Given the description of an element on the screen output the (x, y) to click on. 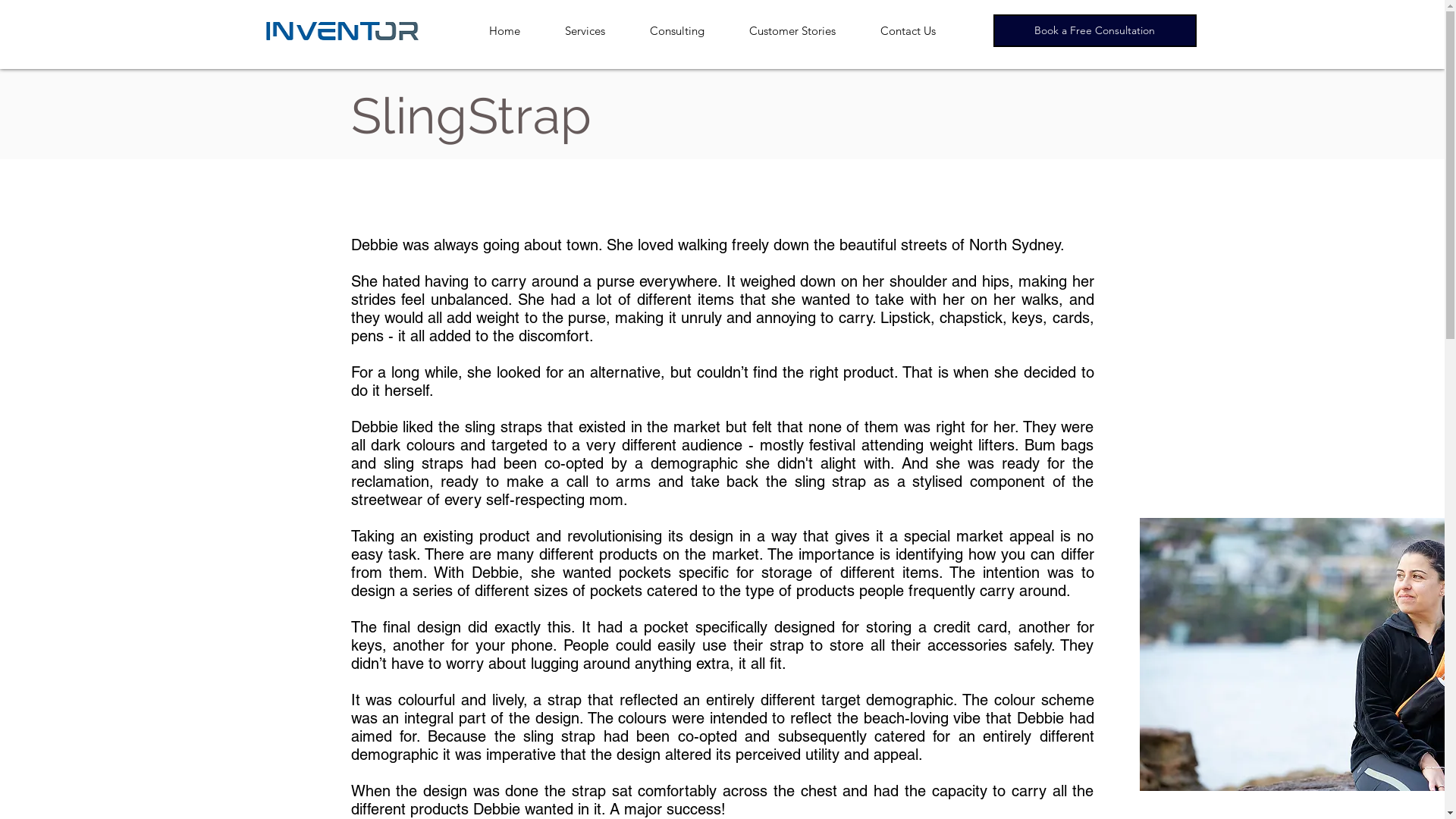
Services Element type: text (594, 30)
Contact Us Element type: text (916, 30)
Book a Free Consultation Element type: text (1094, 30)
Customer Stories Element type: text (802, 30)
Home Element type: text (514, 30)
Consulting Element type: text (686, 30)
